Given the description of an element on the screen output the (x, y) to click on. 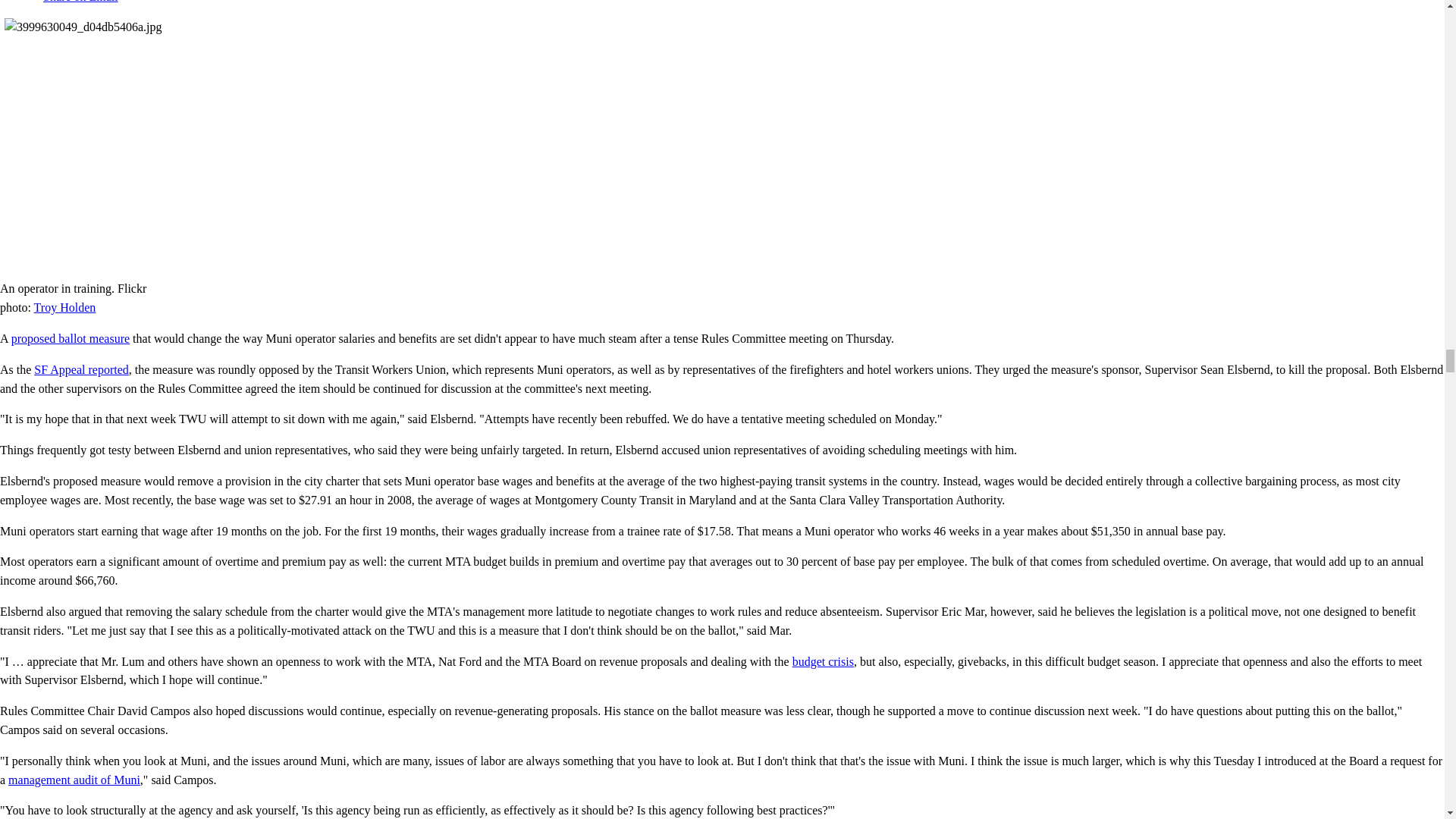
proposed ballot measure (70, 338)
Share on Email (73, 1)
Troy Holden (64, 307)
budget crisis (822, 661)
SF Appeal reported (80, 369)
management audit of Muni (73, 779)
